Given the description of an element on the screen output the (x, y) to click on. 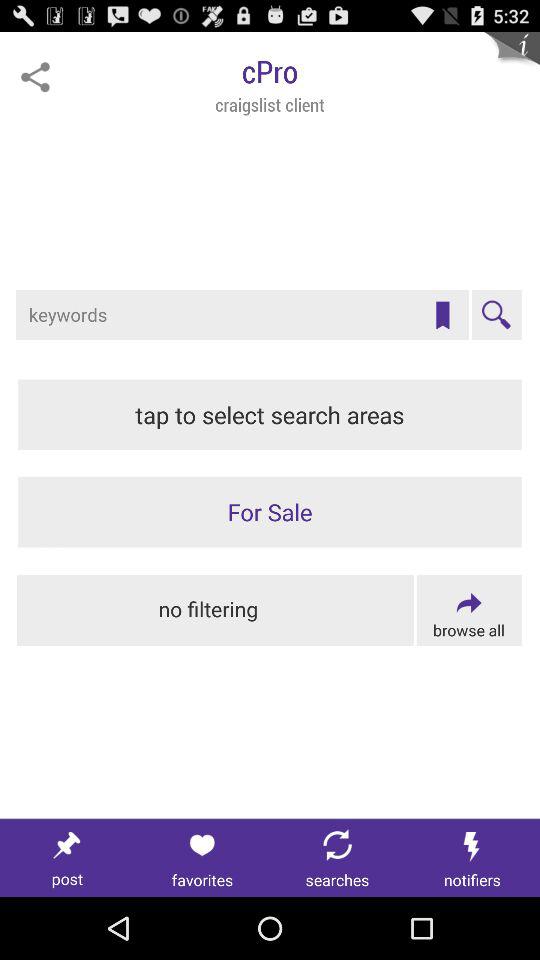
post (67, 858)
